Given the description of an element on the screen output the (x, y) to click on. 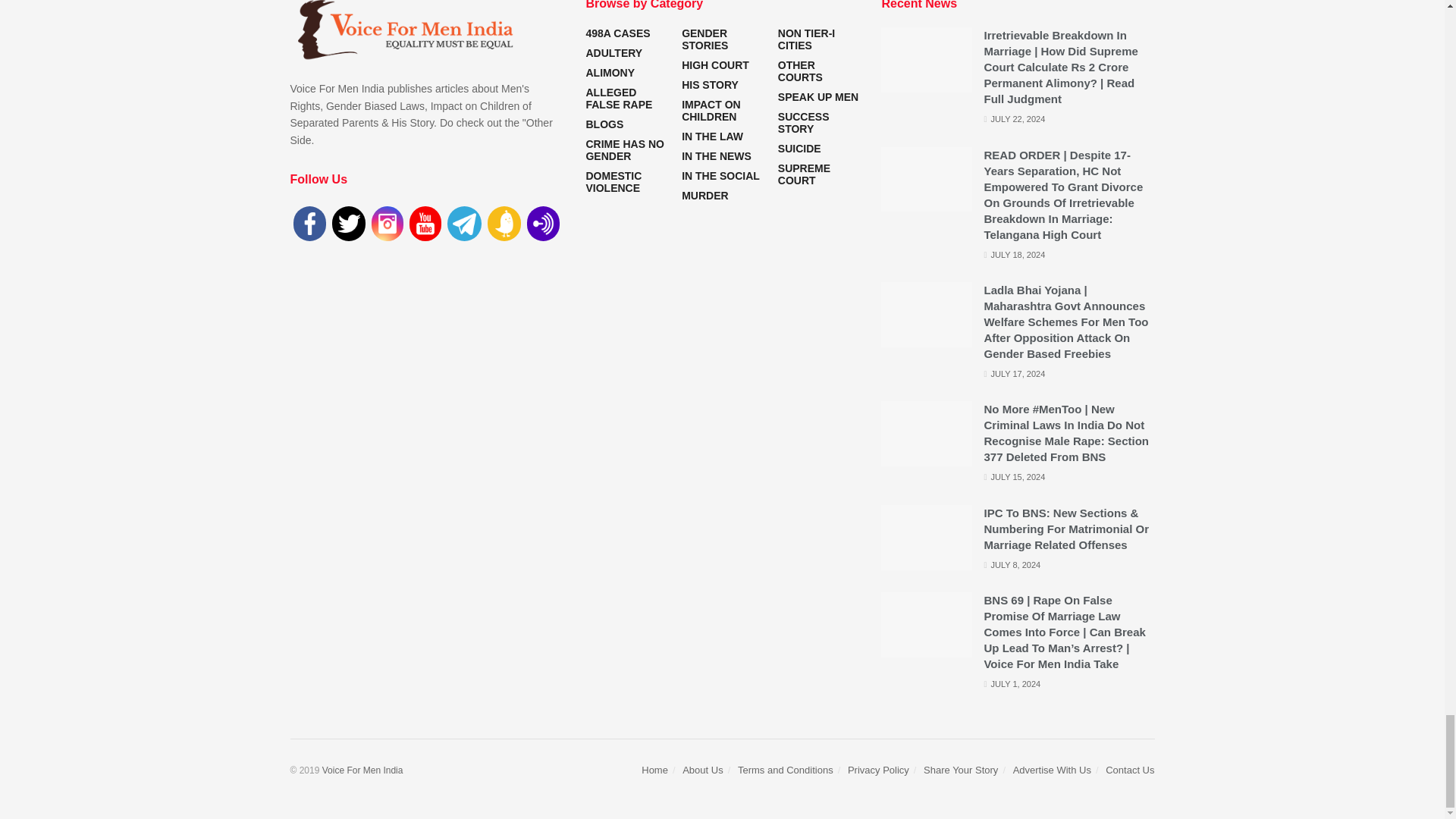
Voice For Men India (362, 769)
